Given the description of an element on the screen output the (x, y) to click on. 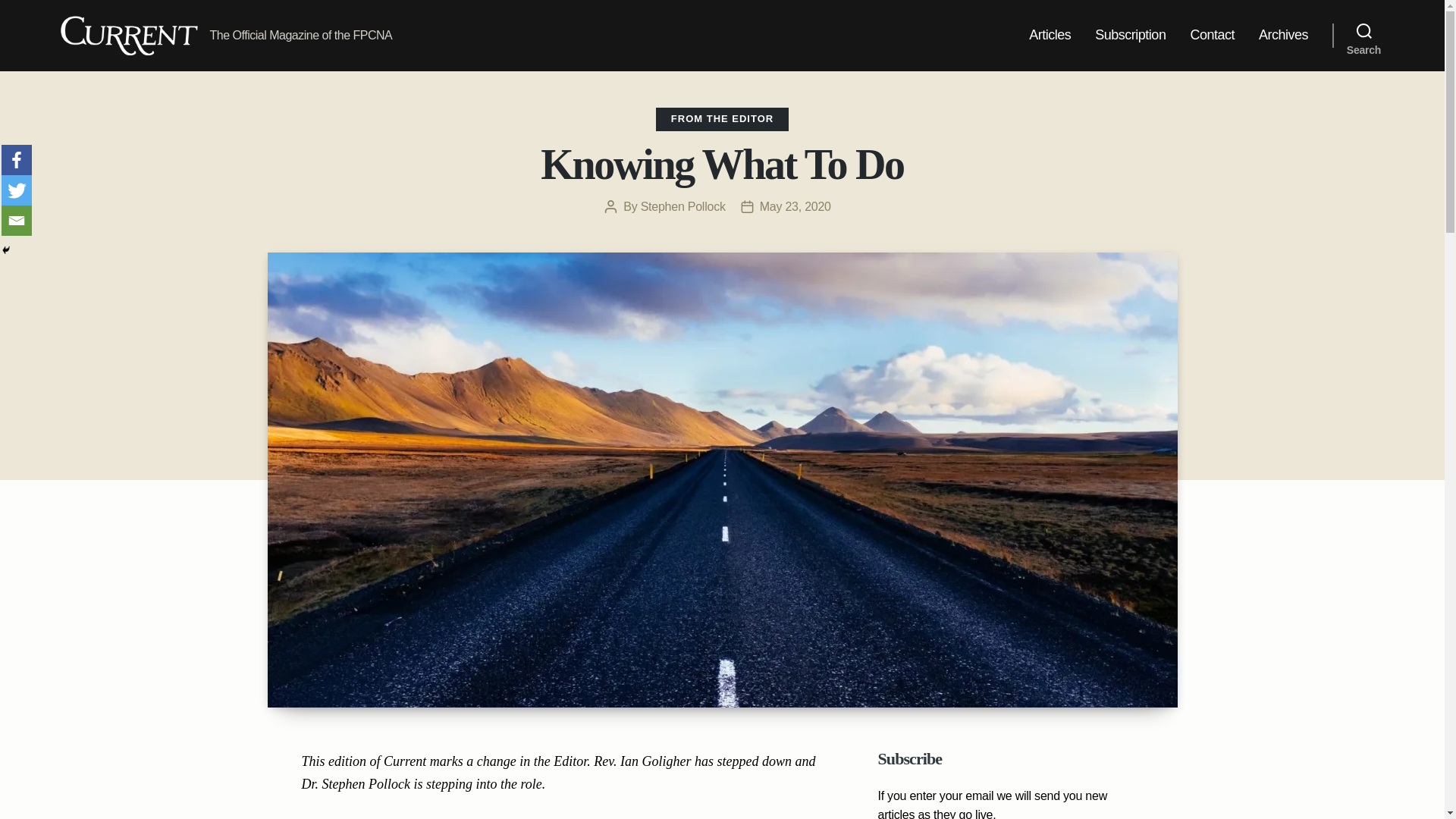
Contact (1211, 35)
Stephen Pollock (682, 205)
Articles (1049, 35)
Hide (5, 250)
Archives (1283, 35)
May 23, 2020 (795, 205)
Facebook (16, 159)
FROM THE EDITOR (722, 118)
Email (16, 220)
Twitter (16, 190)
Subscription (1130, 35)
Search (1364, 35)
